Given the description of an element on the screen output the (x, y) to click on. 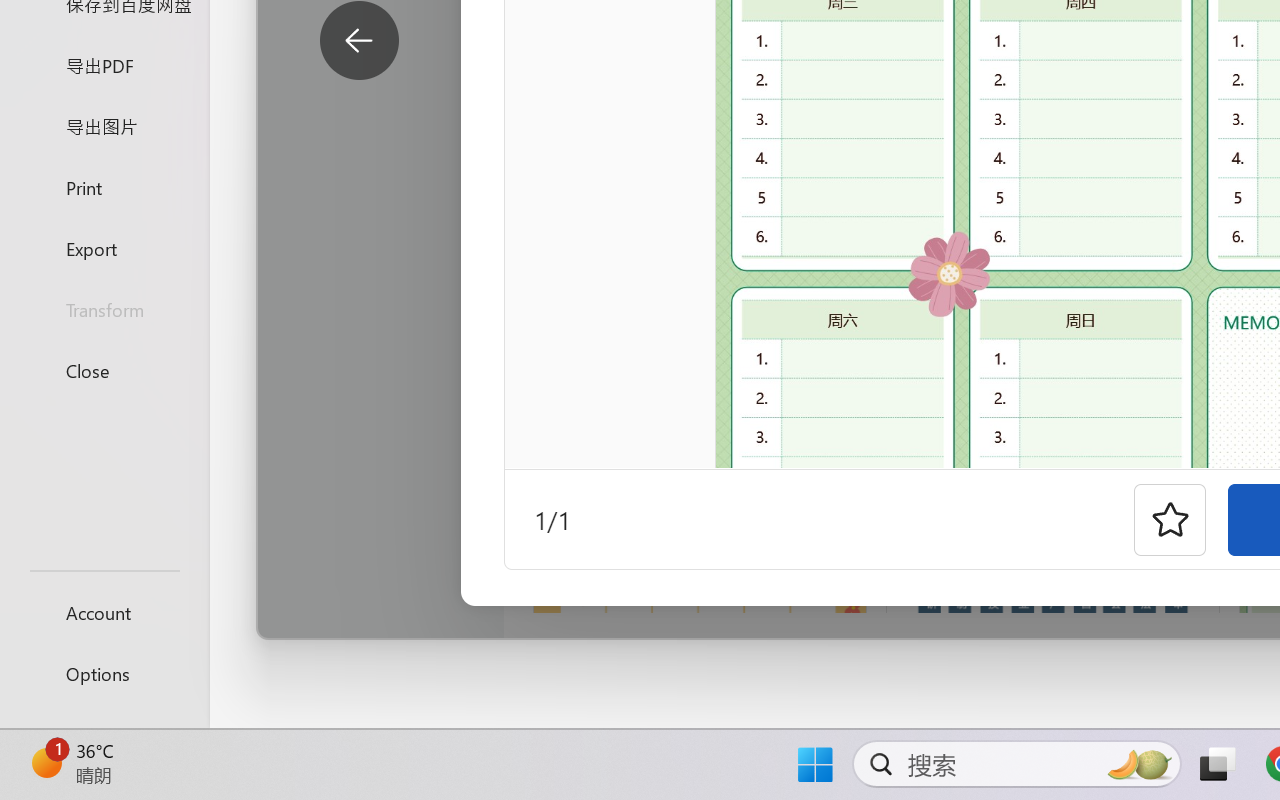
Options (104, 673)
Transform (104, 309)
Export (104, 248)
Account (104, 612)
Print (104, 186)
